Given the description of an element on the screen output the (x, y) to click on. 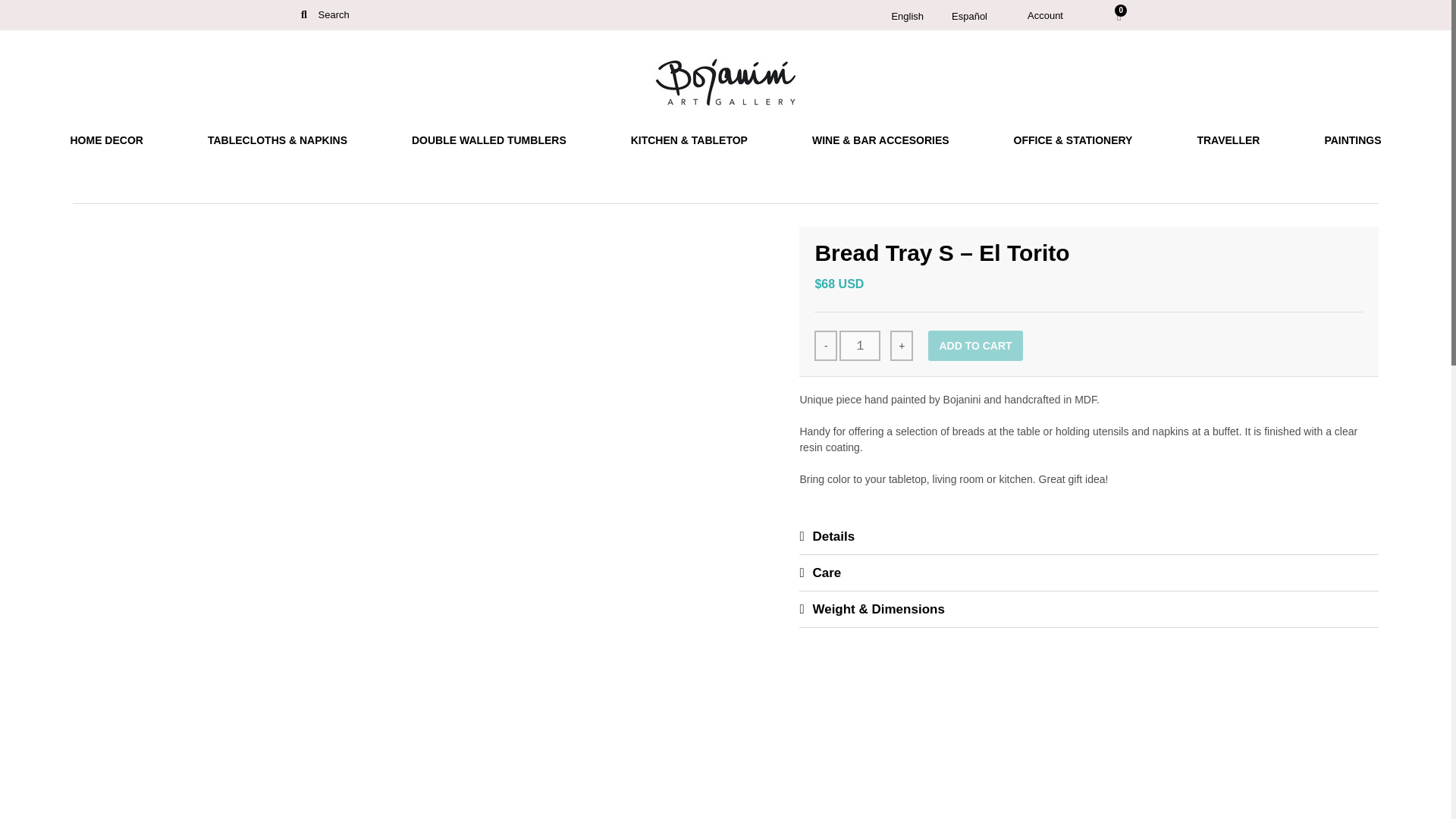
Search (325, 14)
DOUBLE WALLED TUMBLERS (488, 140)
English (903, 15)
HOME DECOR (105, 140)
0 (1119, 15)
1 (860, 345)
Account (1044, 14)
